Given the description of an element on the screen output the (x, y) to click on. 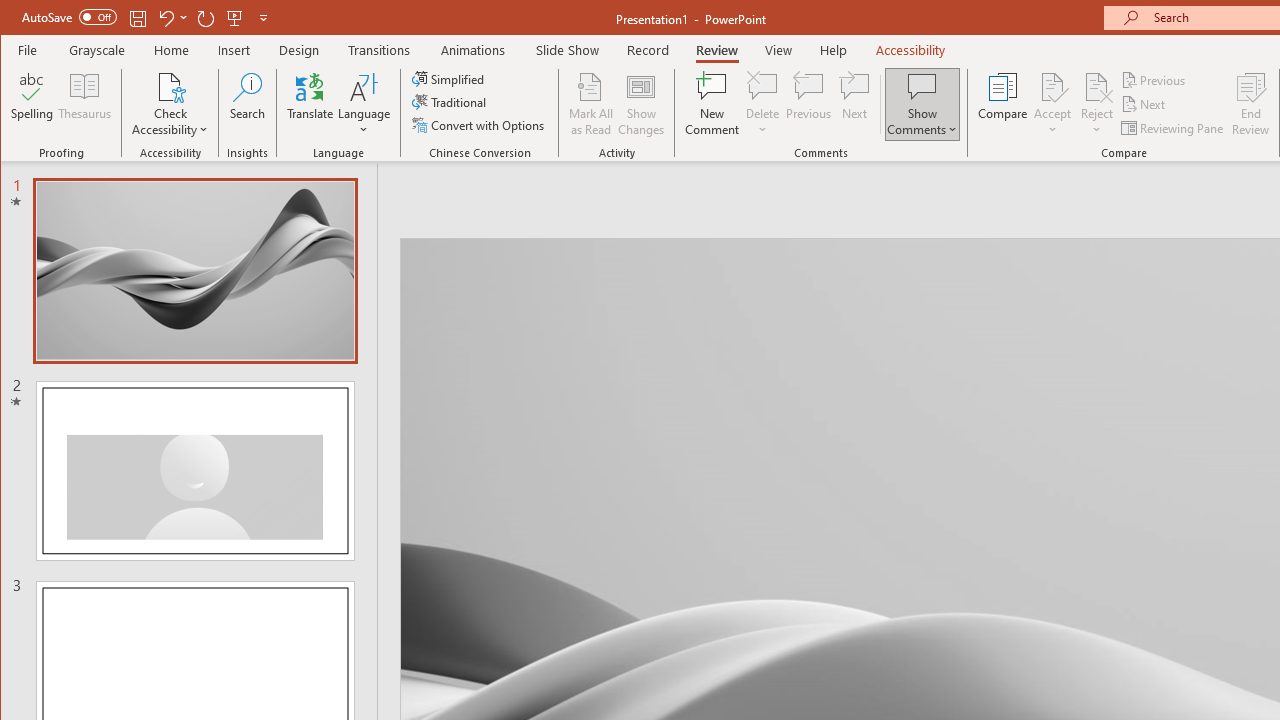
Thesaurus... (84, 104)
Language (363, 104)
New Comment (712, 104)
Traditional (450, 101)
Accessibility (910, 50)
Help (833, 50)
Slide (195, 471)
Customize Quick Access Toolbar (263, 17)
AutoSave (68, 16)
Review (717, 50)
Simplified (450, 78)
Convert with Options... (479, 124)
System (18, 18)
Design (299, 50)
File Tab (28, 49)
